Given the description of an element on the screen output the (x, y) to click on. 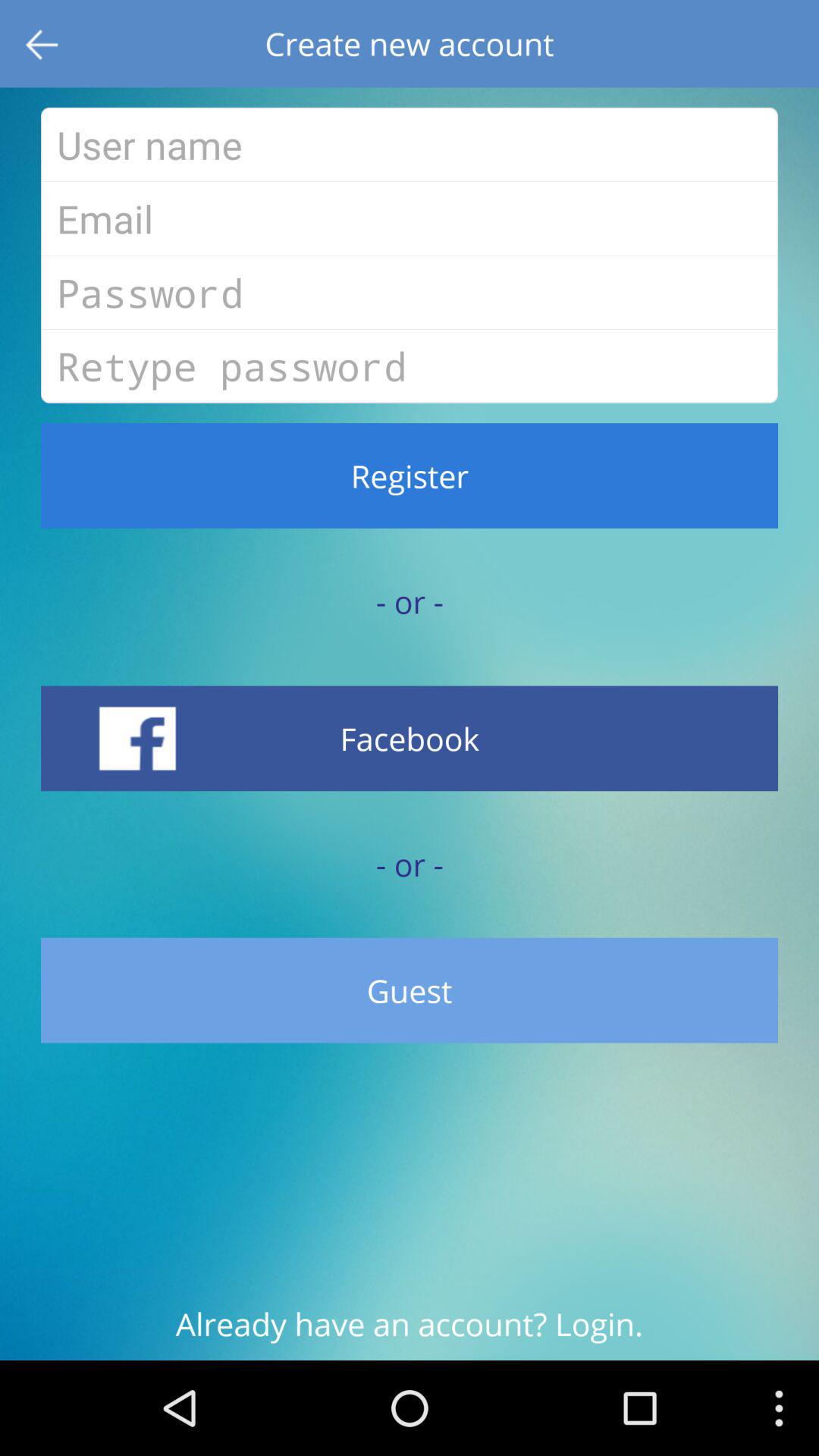
jump to the guest icon (409, 990)
